Given the description of an element on the screen output the (x, y) to click on. 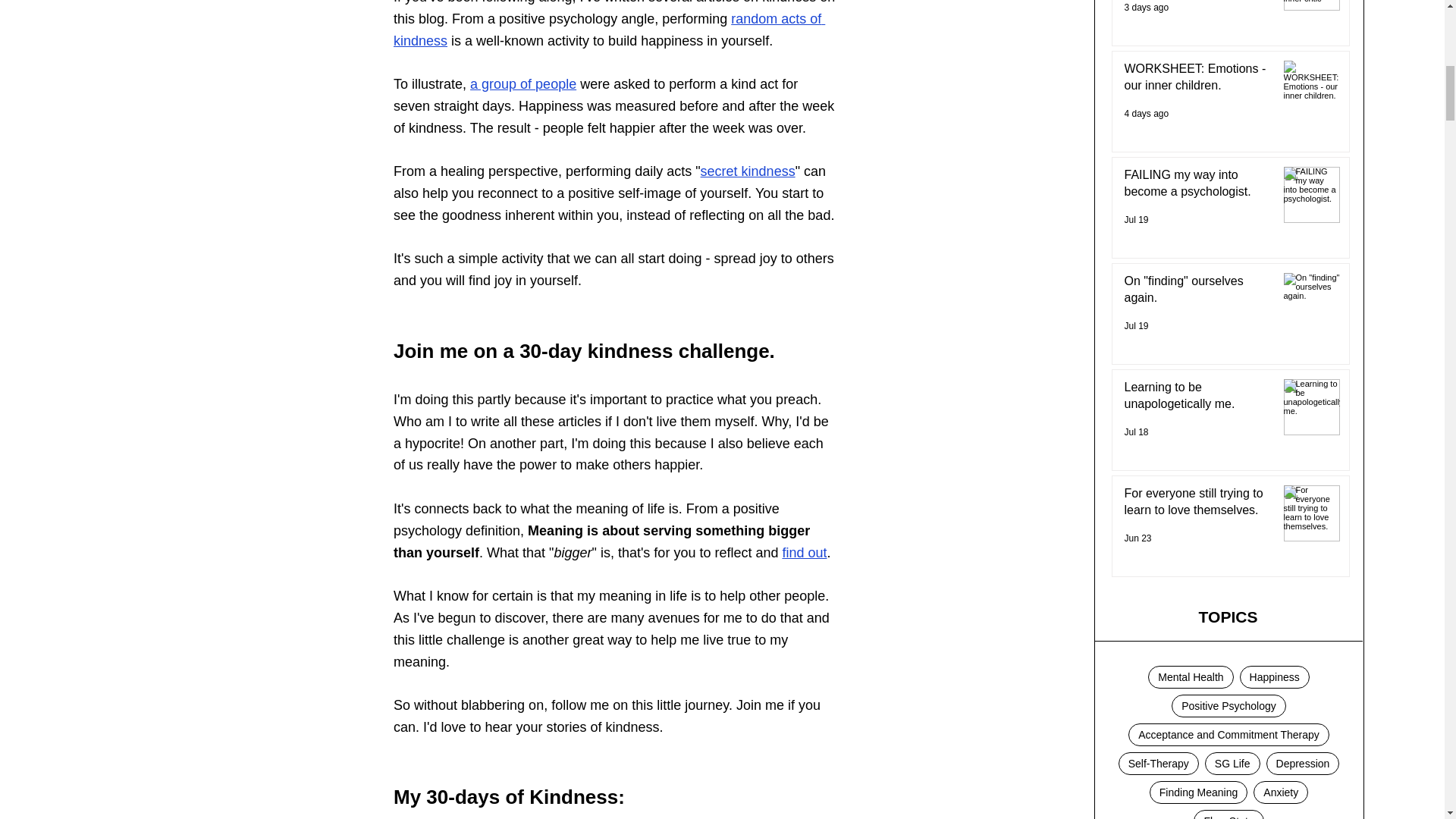
For everyone still trying to learn to love themselves. (1197, 505)
Jun 23 (1137, 538)
Finding Meaning (1198, 792)
Anxiety (1280, 792)
4 days ago (1146, 113)
SG Life (1232, 763)
Learning to be unapologetically me. (1197, 399)
Jul 19 (1136, 219)
Acceptance and Commitment Therapy (1228, 734)
Flow State (1228, 814)
